Given the description of an element on the screen output the (x, y) to click on. 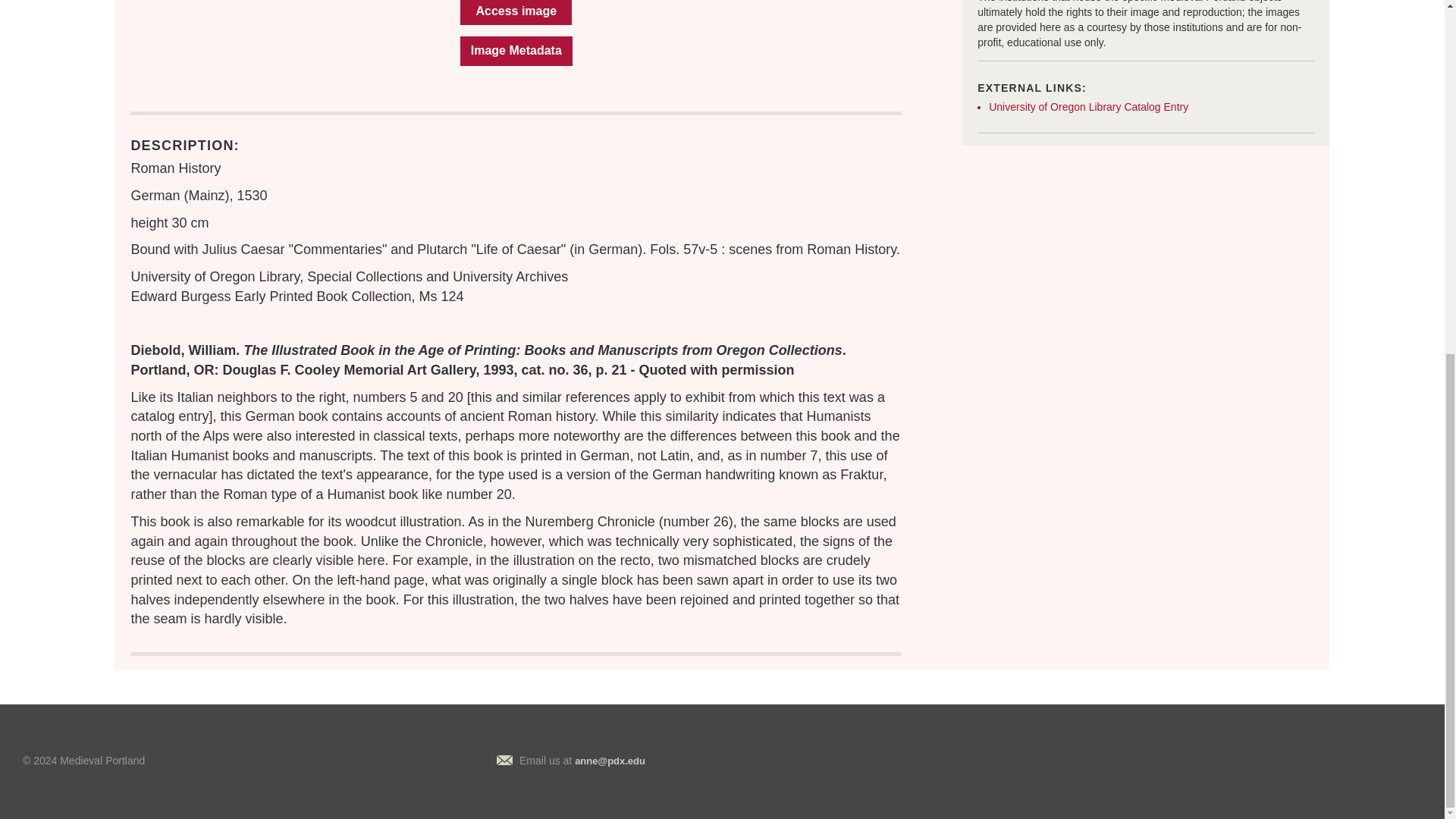
Image Metadata (516, 51)
Access image (516, 12)
University of Oregon Library Catalog Entry (1088, 106)
